Given the description of an element on the screen output the (x, y) to click on. 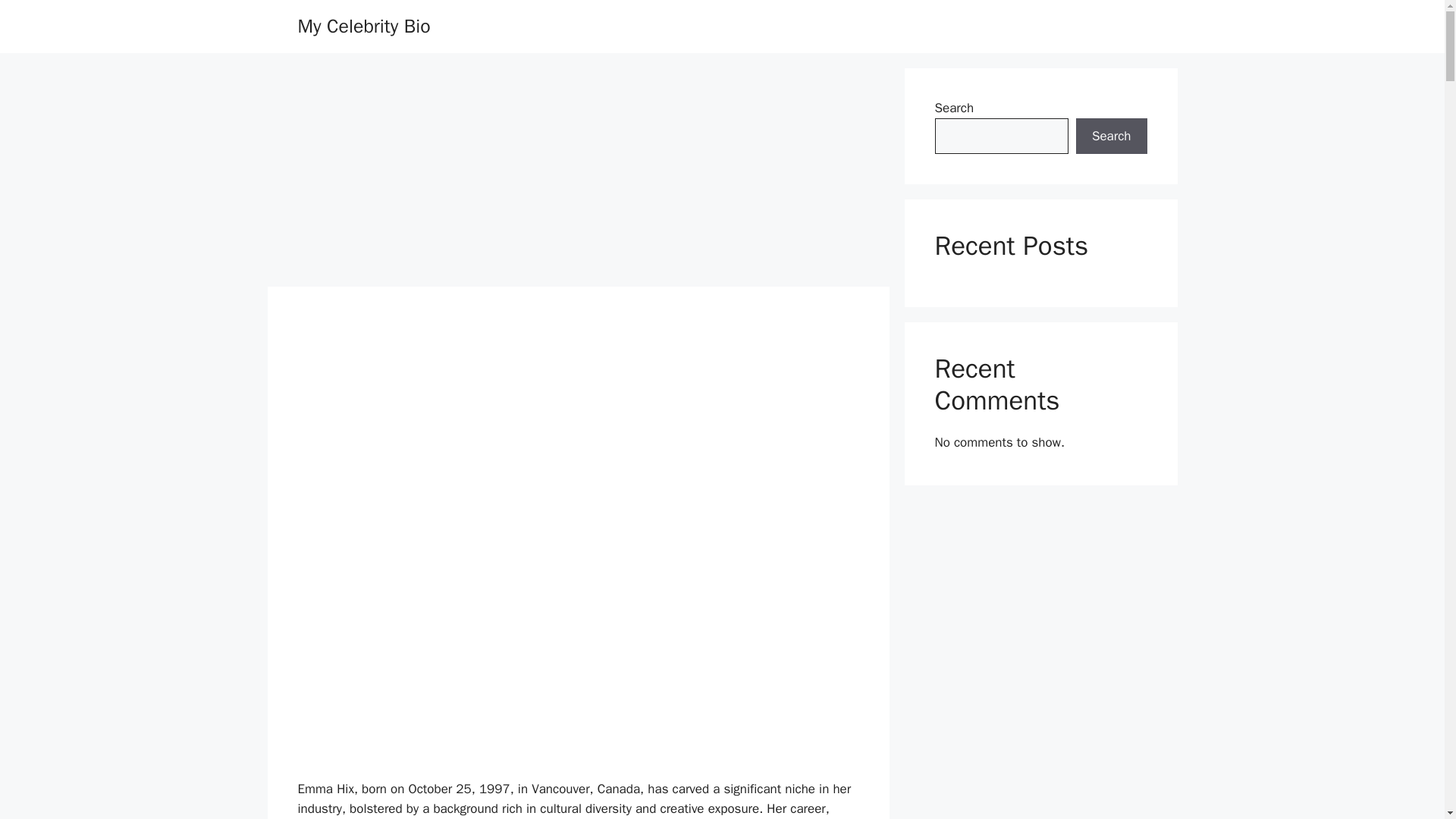
Search (1111, 135)
Advertisement (578, 449)
Advertisement (577, 173)
My Celebrity Bio (363, 25)
Advertisement (578, 667)
